Given the description of an element on the screen output the (x, y) to click on. 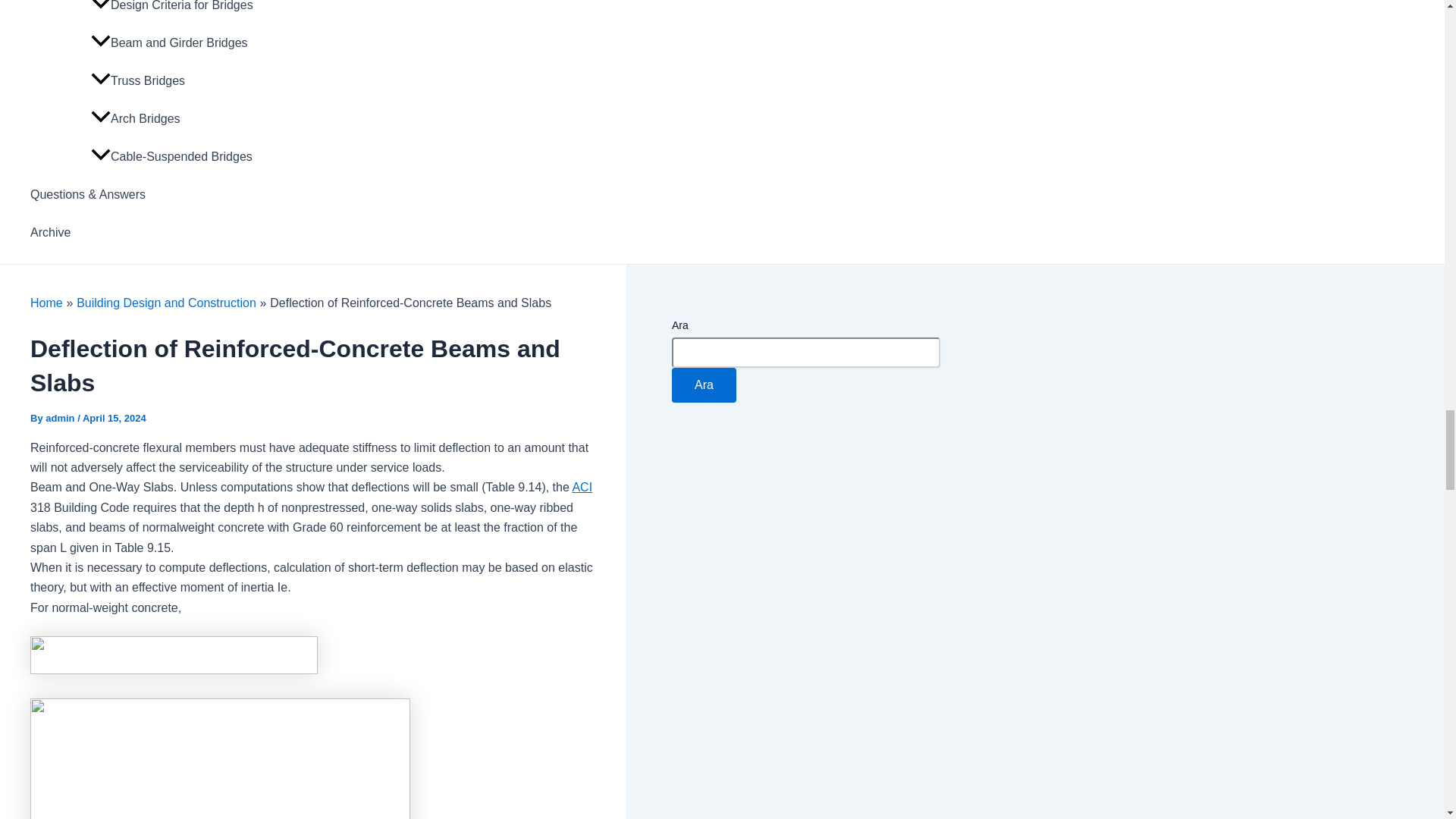
View all posts by admin (61, 418)
eq 9.67 (173, 655)
ACI (582, 486)
